Given the description of an element on the screen output the (x, y) to click on. 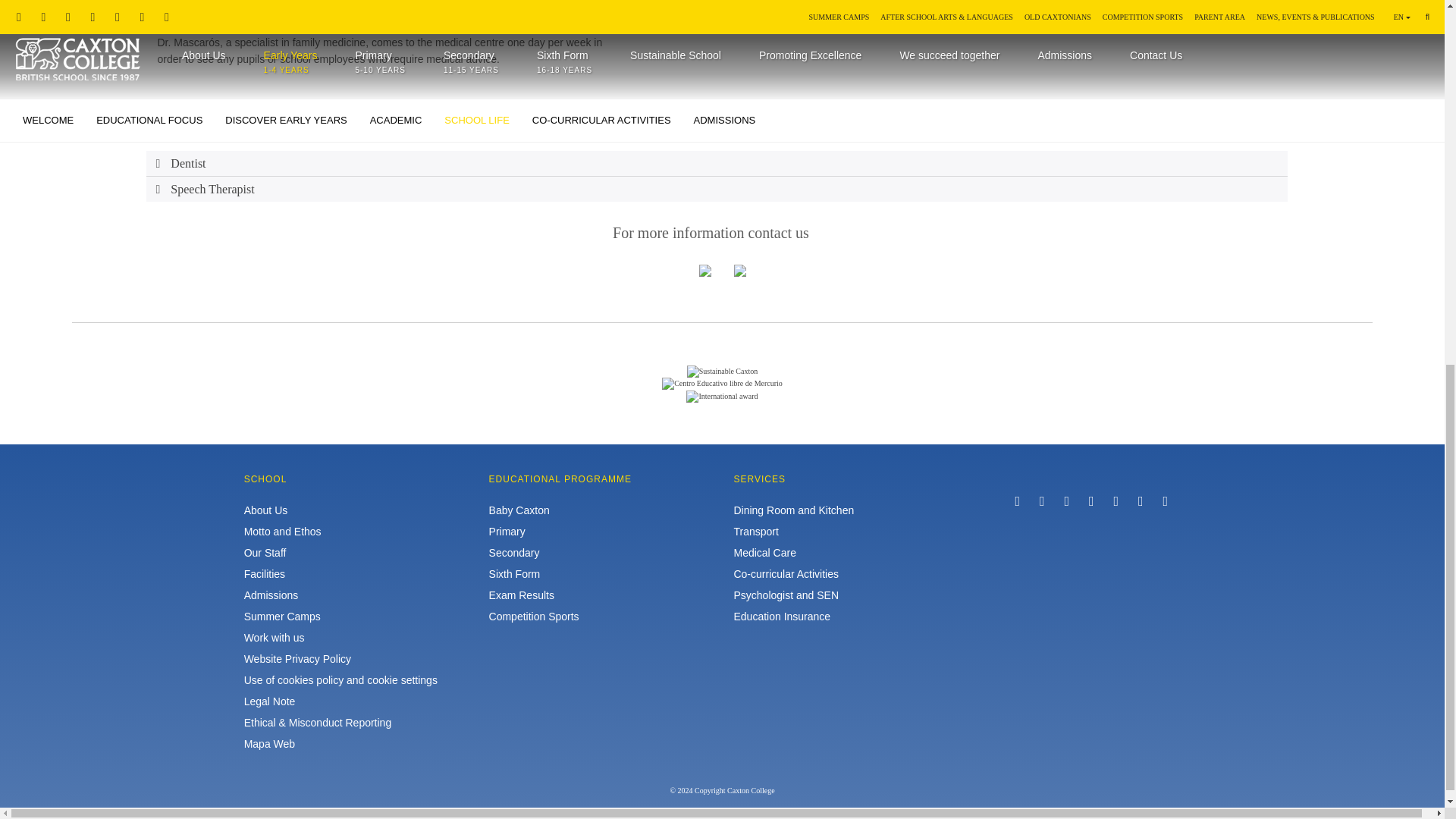
Company (722, 371)
Company (722, 383)
Company (721, 396)
